Given the description of an element on the screen output the (x, y) to click on. 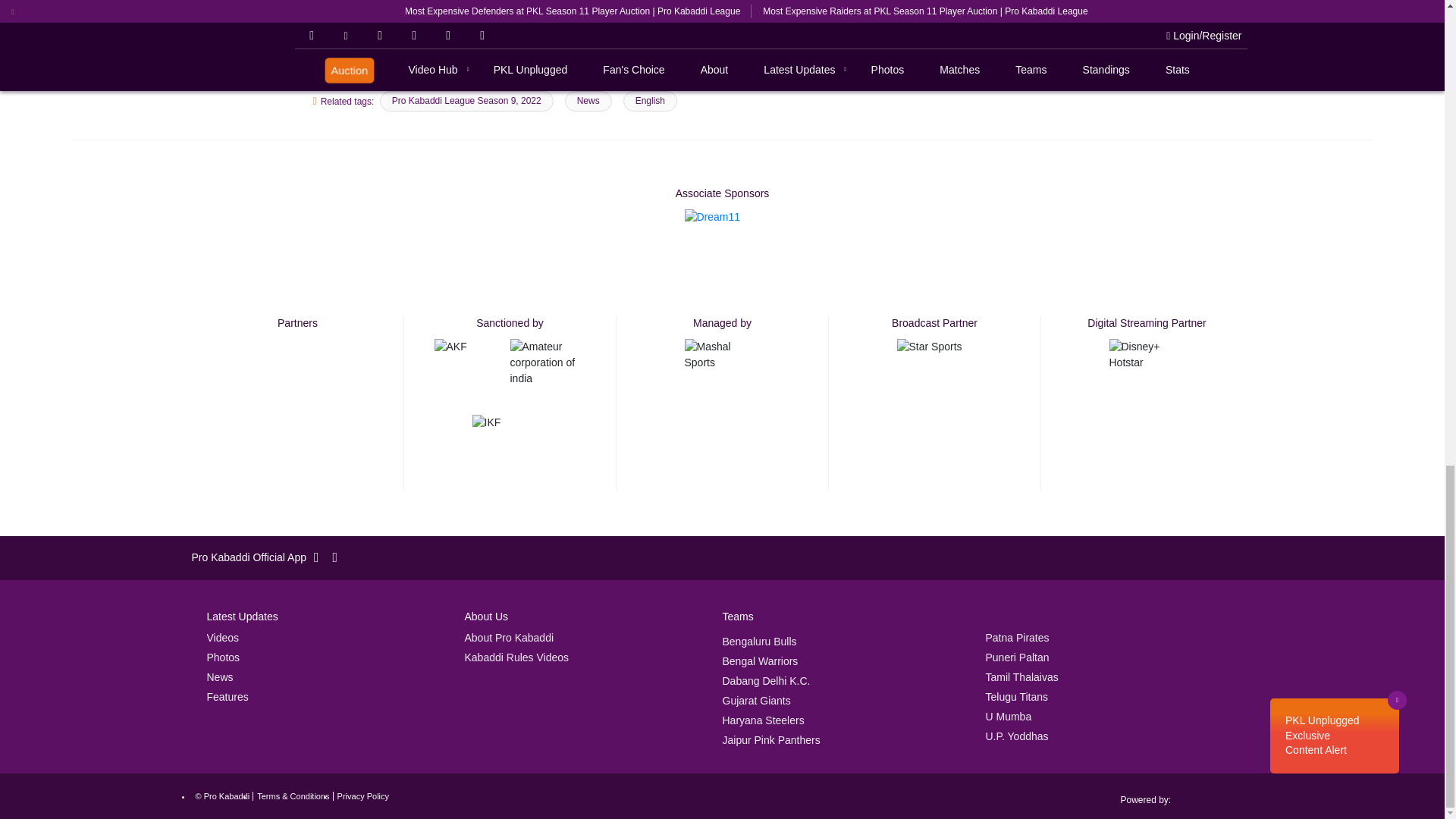
English (650, 100)
News (587, 100)
Pro Kabaddi League Season 9, 2022 (466, 100)
